Given the description of an element on the screen output the (x, y) to click on. 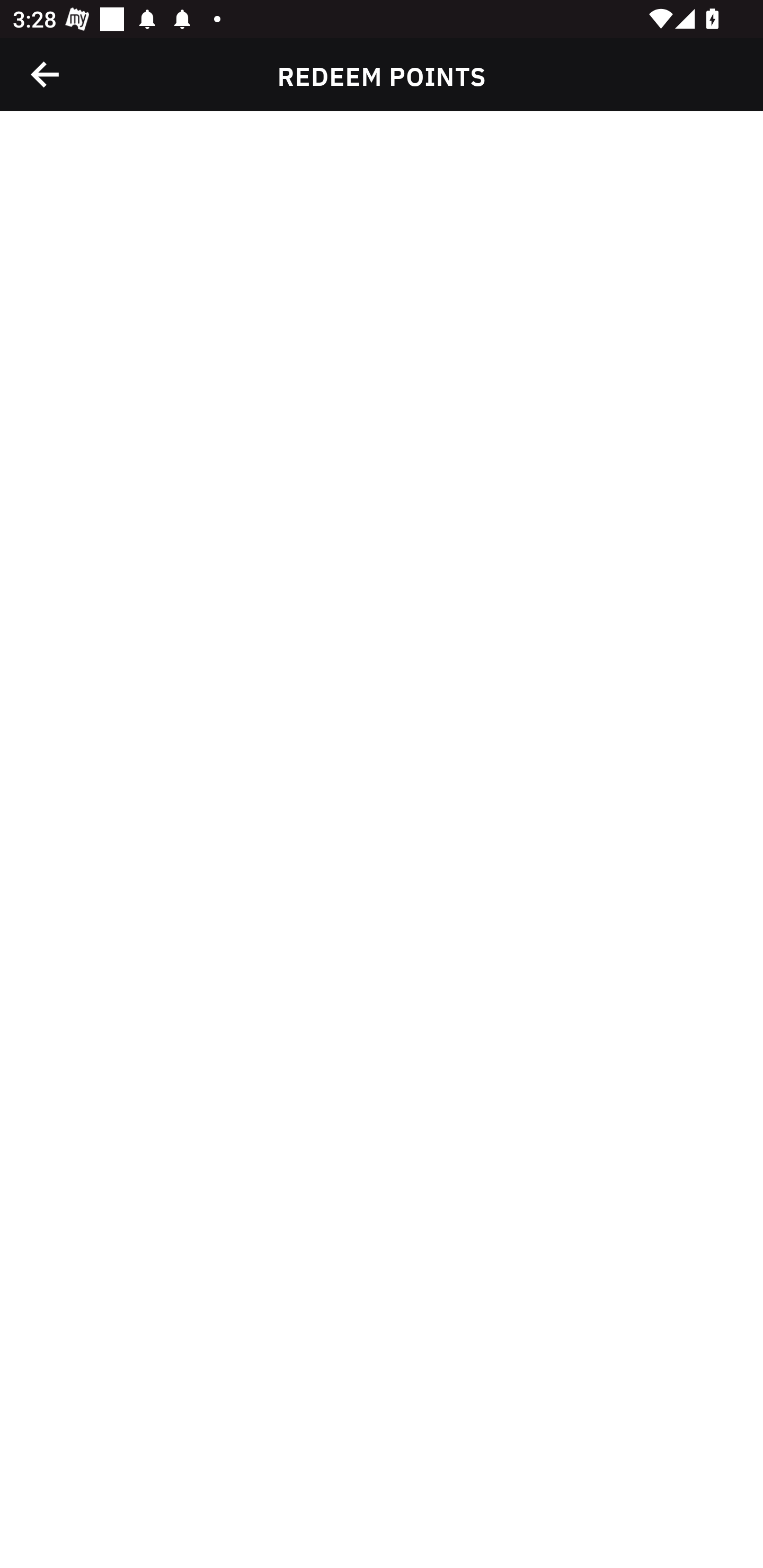
 (46, 74)
